Given the description of an element on the screen output the (x, y) to click on. 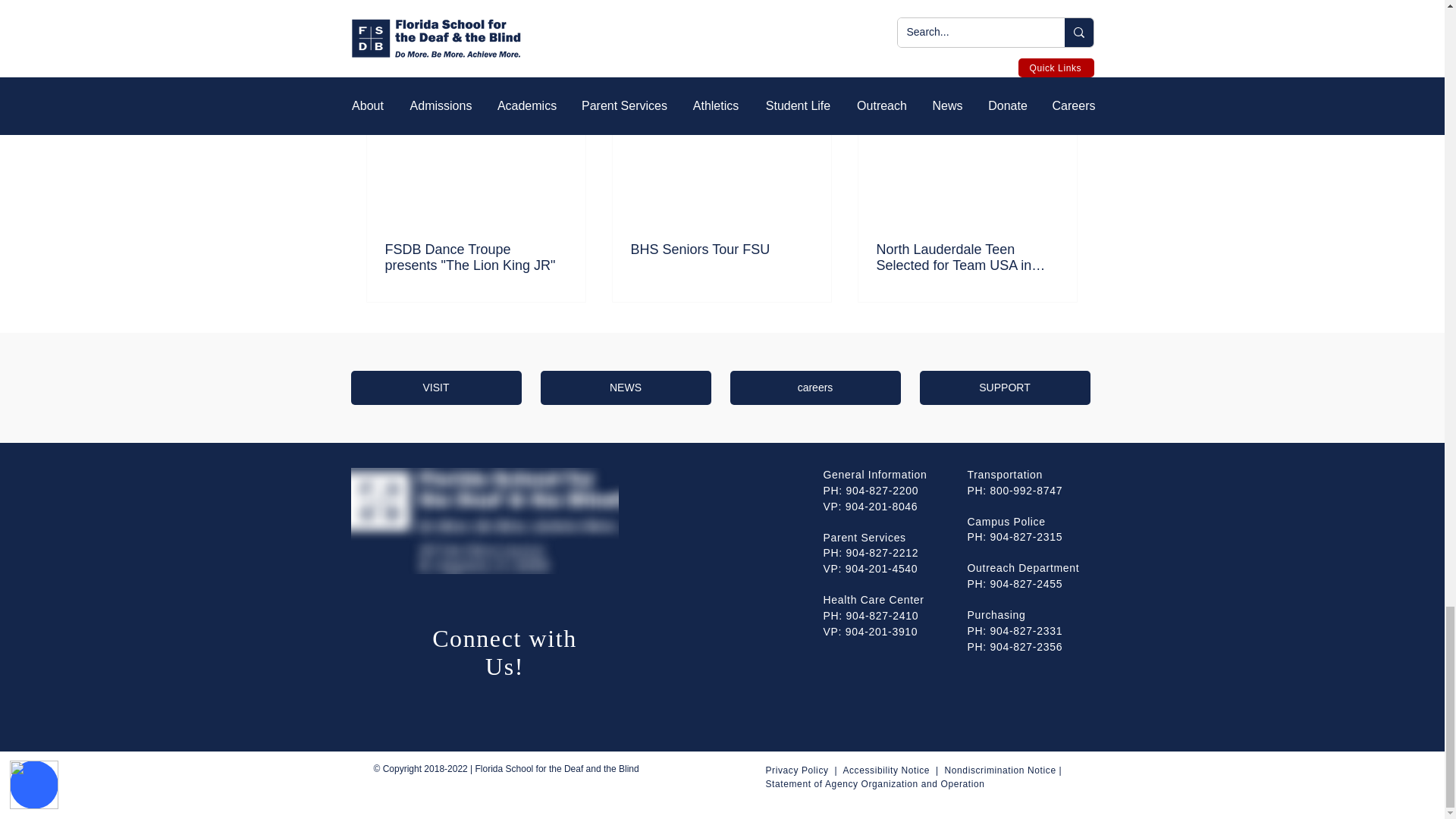
FSDB White Logo, Tagline, and Address (483, 520)
See All (1061, 74)
BHS Seniors Tour FSU (721, 249)
FSDB Dance Troupe presents "The Lion King JR" (476, 257)
